Given the description of an element on the screen output the (x, y) to click on. 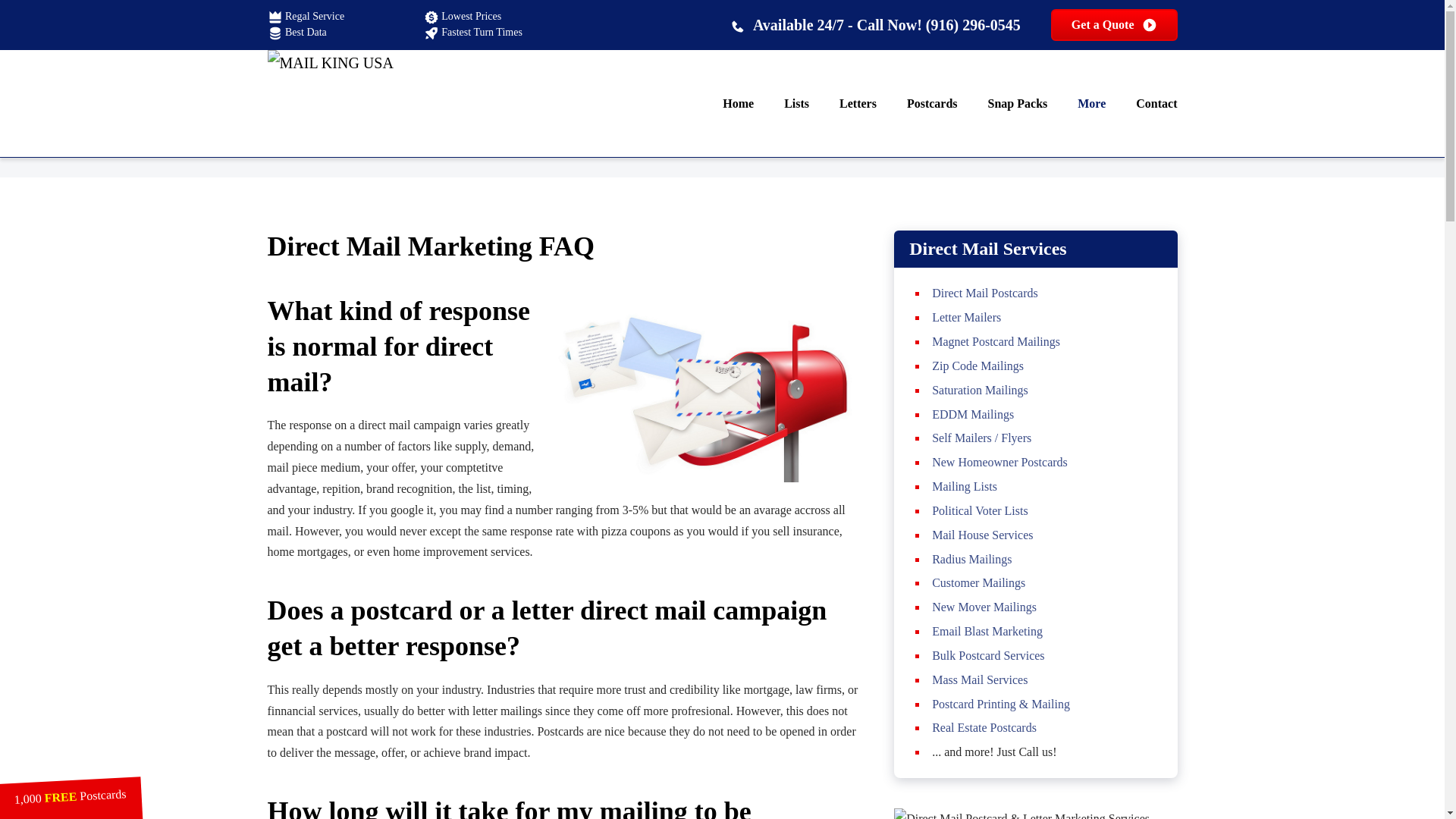
Call for bulk postcard letter mailing services (875, 24)
Direct Mail Quotes (1114, 24)
